Given the description of an element on the screen output the (x, y) to click on. 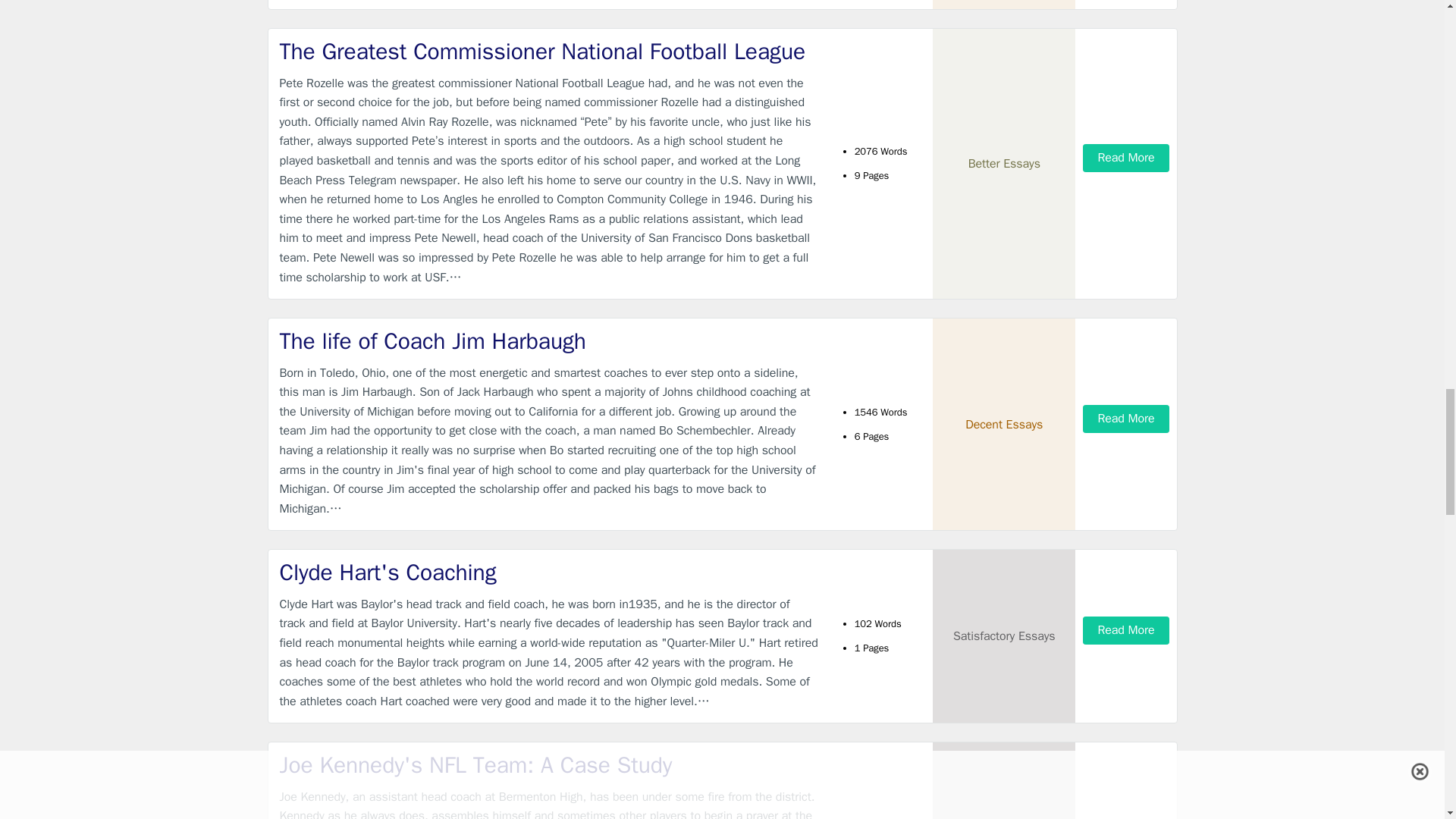
Read More (1126, 630)
The Greatest Commissioner National Football League (548, 51)
Read More (1126, 418)
Clyde Hart's Coaching (548, 572)
Read More (1126, 157)
The life of Coach Jim Harbaugh (548, 341)
